Given the description of an element on the screen output the (x, y) to click on. 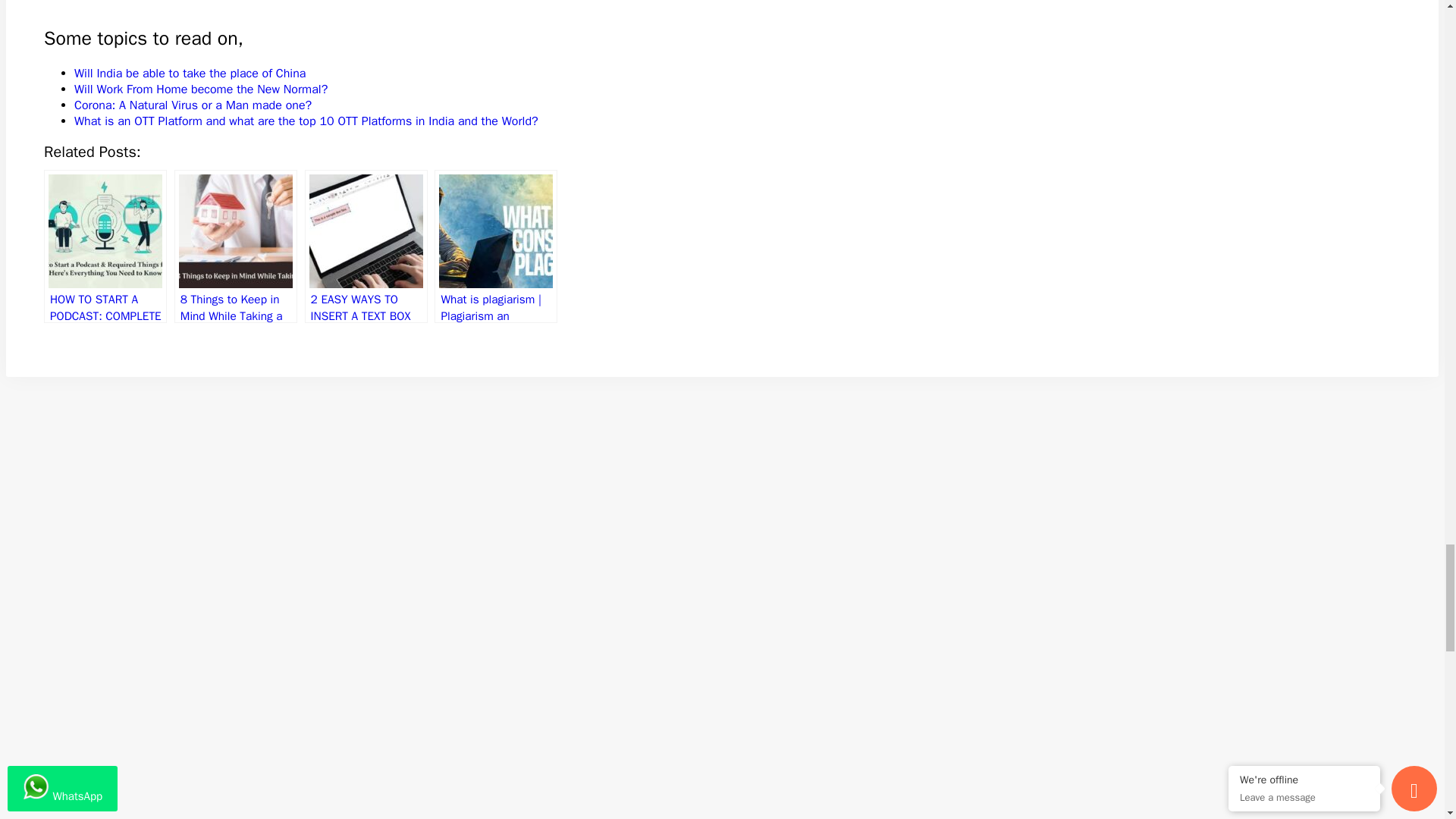
Will India be able to take the place of China (189, 73)
Corona: A Natural Virus or a Man made one? (192, 105)
What is Human Trafficking (233, 2)
Will Work From Home become the New Normal? (200, 89)
